Given the description of an element on the screen output the (x, y) to click on. 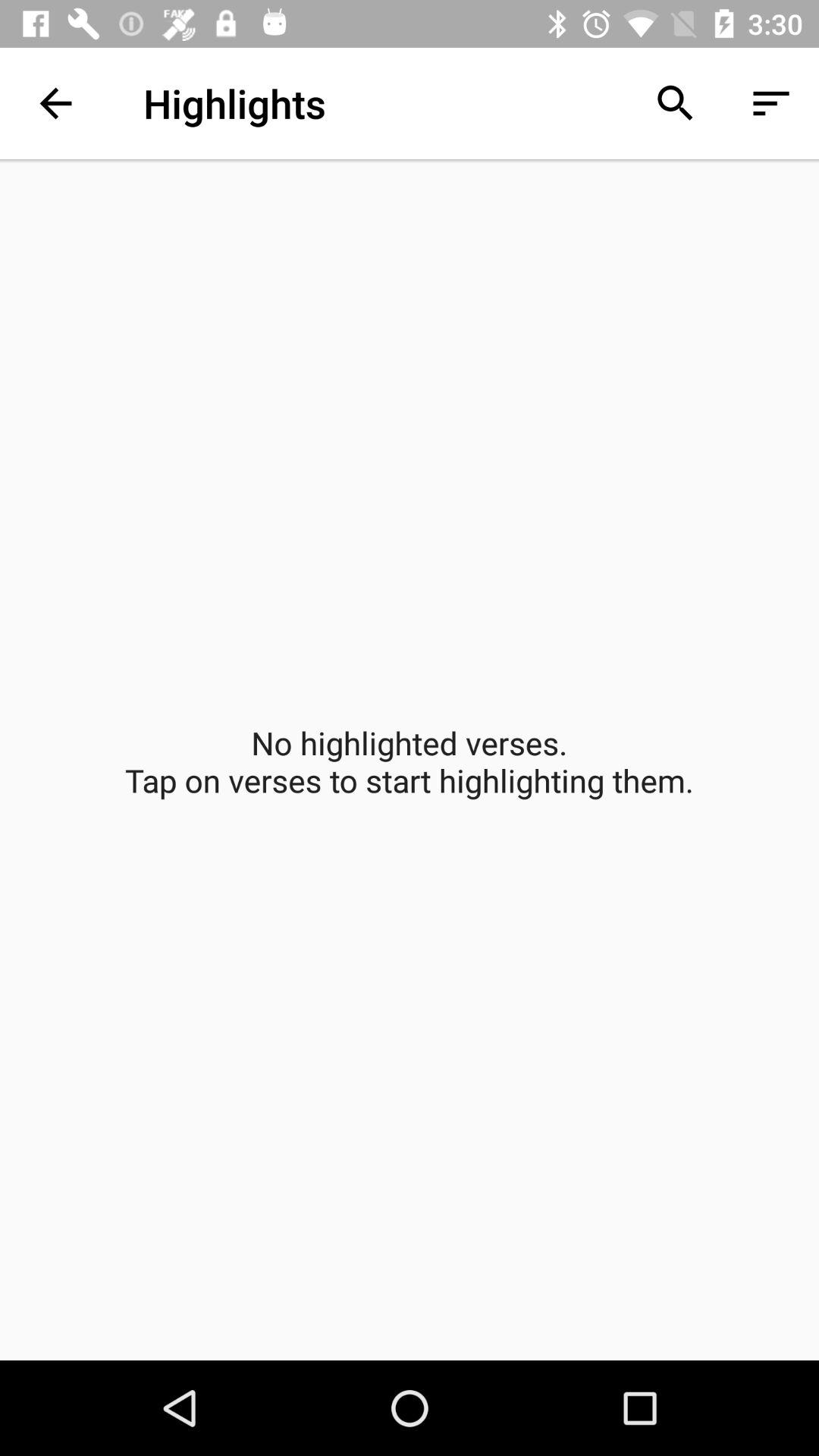
open the app to the left of the highlights app (55, 103)
